Given the description of an element on the screen output the (x, y) to click on. 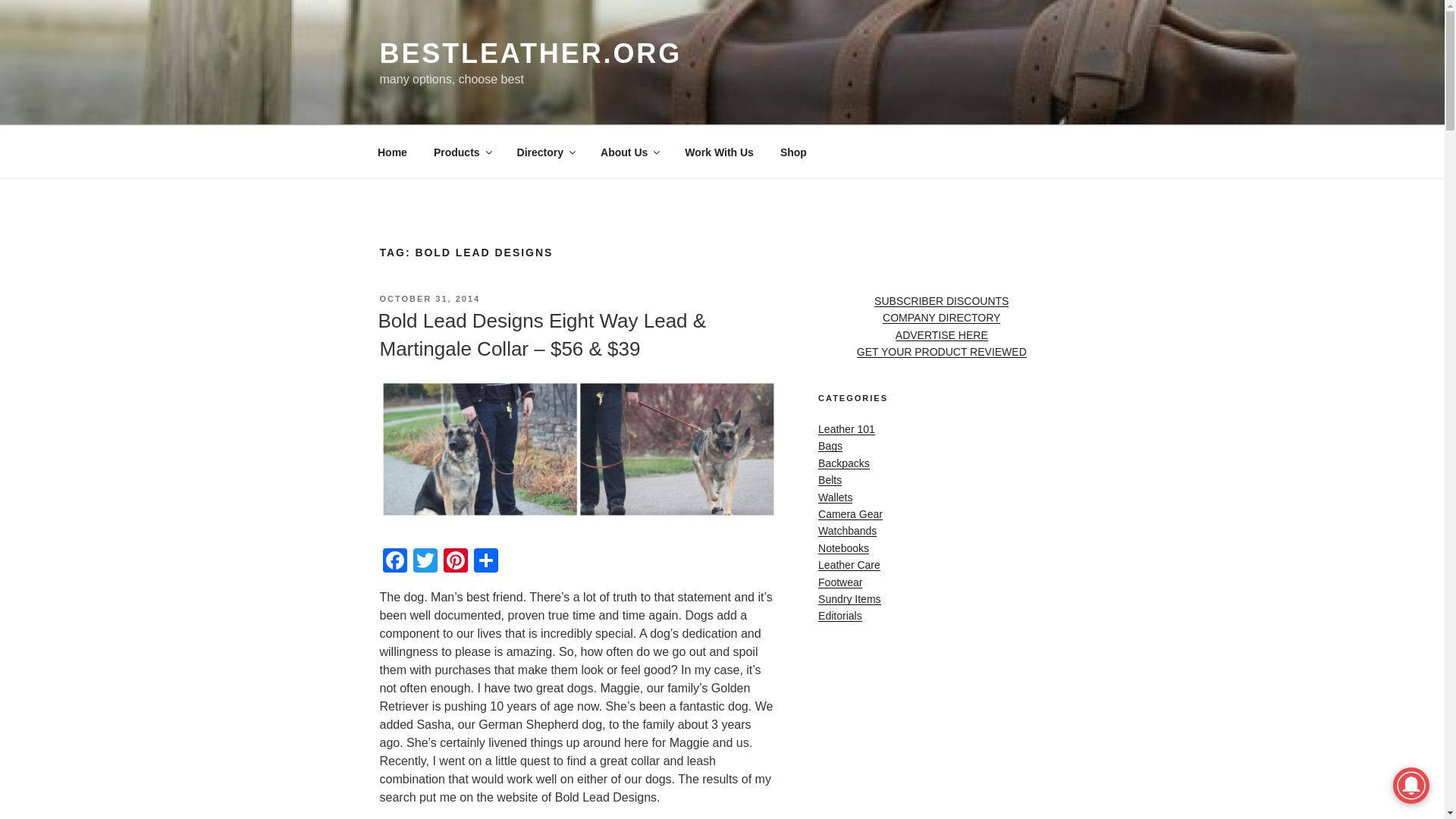
Shop (793, 151)
Directory (544, 151)
Work With Us (719, 151)
Pinterest (454, 561)
leather companies (544, 151)
About Us (629, 151)
Pinterest (454, 561)
Twitter (424, 561)
BESTLEATHER.ORG (529, 52)
Home (392, 151)
browse by catagory (461, 151)
OCTOBER 31, 2014 (429, 298)
Facebook (393, 561)
Facebook (393, 561)
Products (461, 151)
